Given the description of an element on the screen output the (x, y) to click on. 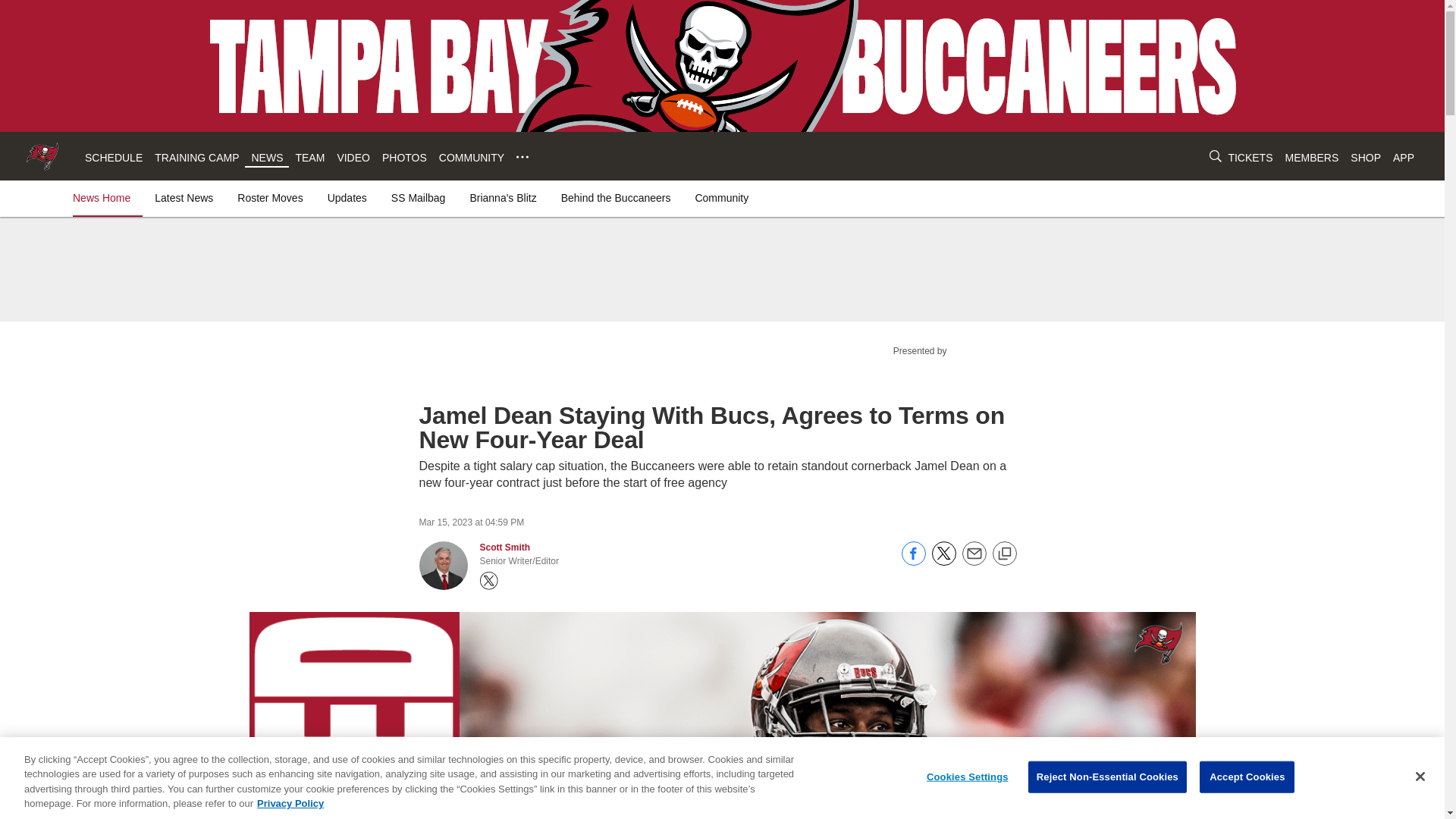
Community (721, 197)
Updates (346, 197)
APP (1403, 157)
NEWS (266, 157)
TEAM (309, 157)
SCHEDULE (113, 157)
SCHEDULE (113, 157)
VIDEO (352, 157)
VIDEO (352, 157)
Behind the Buccaneers (615, 197)
SHOP (1365, 157)
TRAINING CAMP (196, 157)
COMMUNITY (471, 157)
Link to club's homepage (42, 156)
News Home (104, 197)
